Given the description of an element on the screen output the (x, y) to click on. 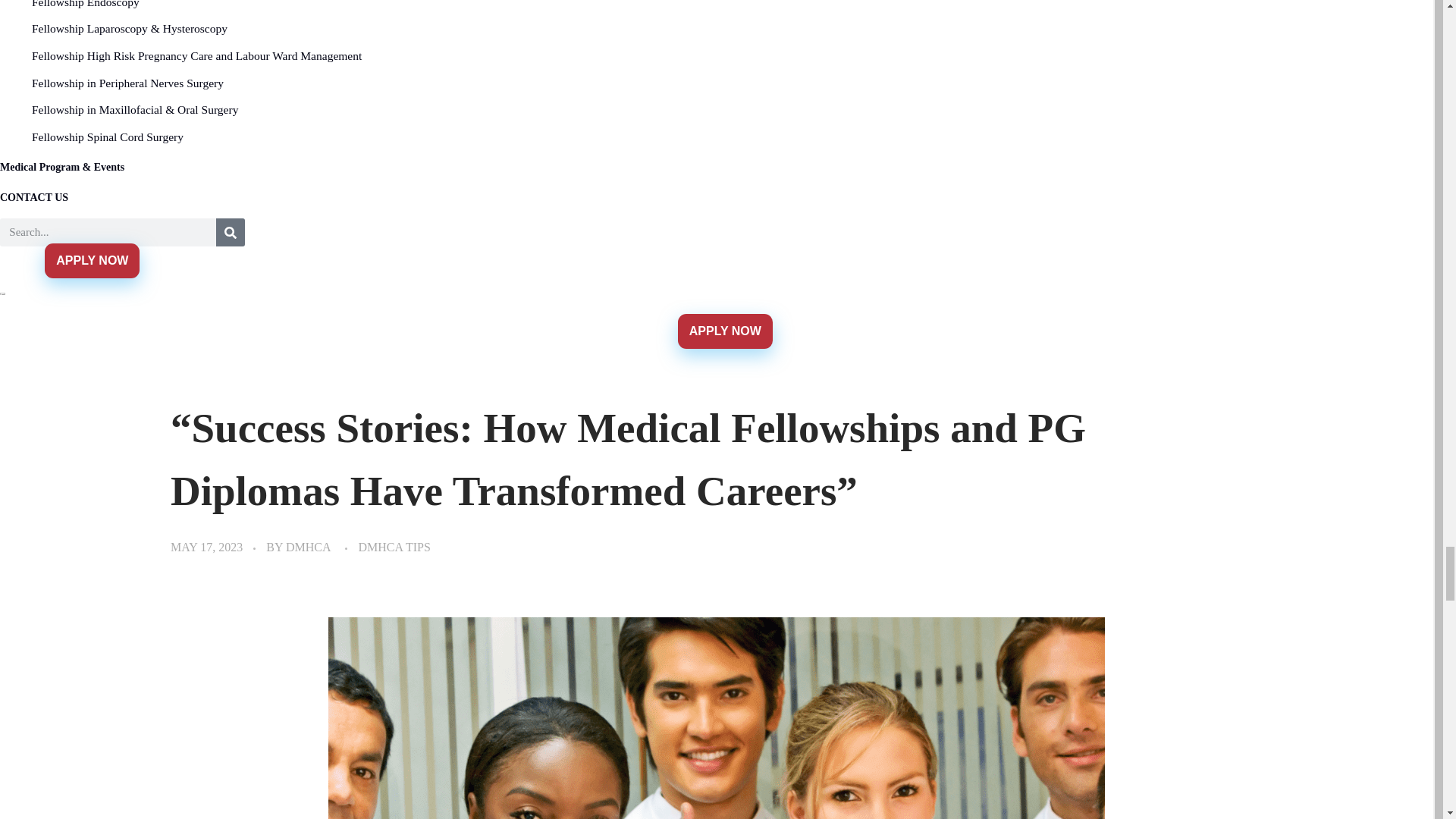
Search (229, 232)
View all posts in DMHCA TIPS (393, 547)
Search (107, 232)
View all posts by DMHCA (308, 546)
